Given the description of an element on the screen output the (x, y) to click on. 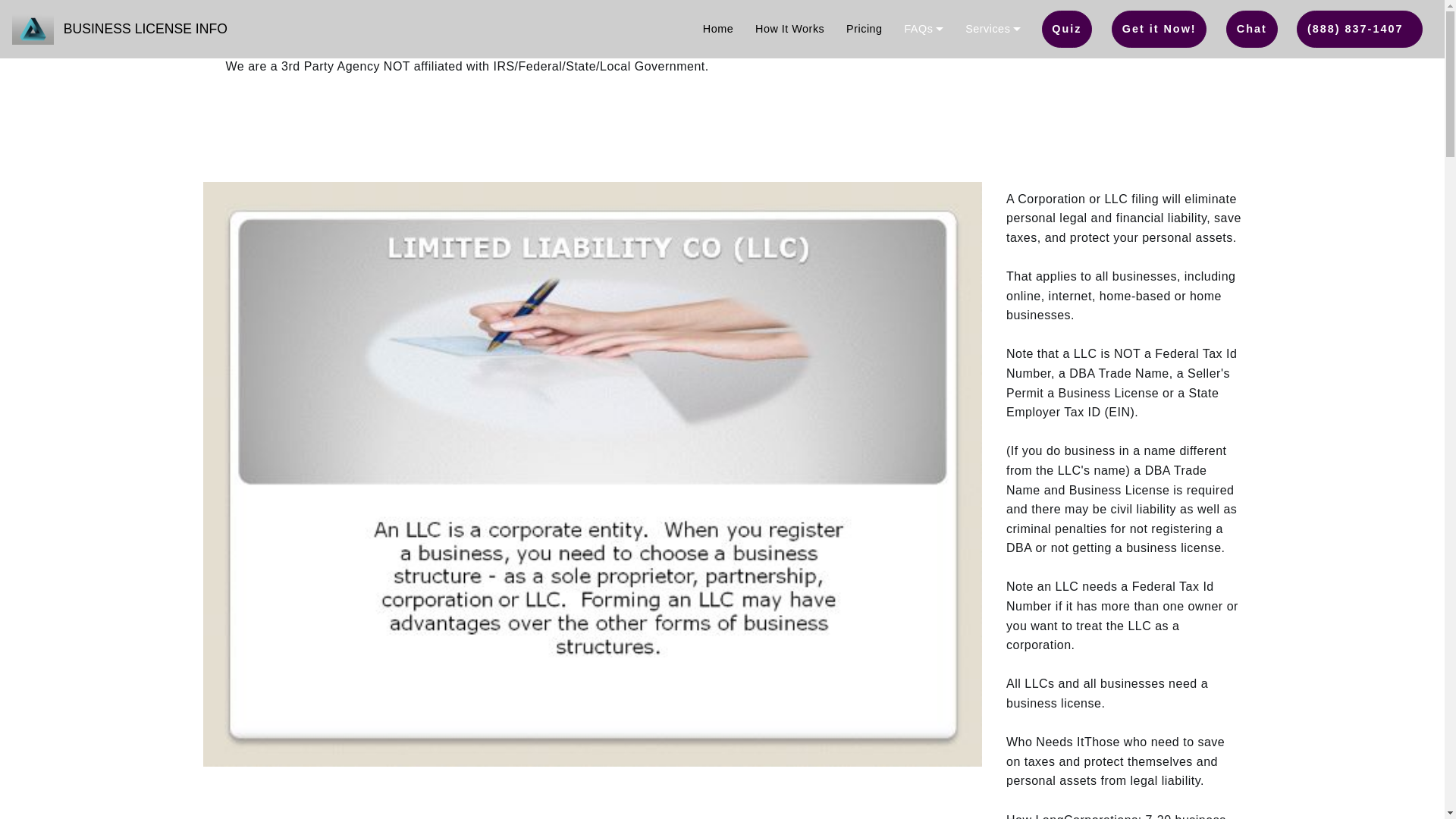
Quiz (1067, 28)
FAQs (923, 28)
BUSINESS LICENSE INFO (145, 28)
Get it Now! (1159, 28)
Chat (1251, 28)
Pricing (863, 28)
Services (992, 28)
Home (718, 28)
How It Works (789, 28)
